Given the description of an element on the screen output the (x, y) to click on. 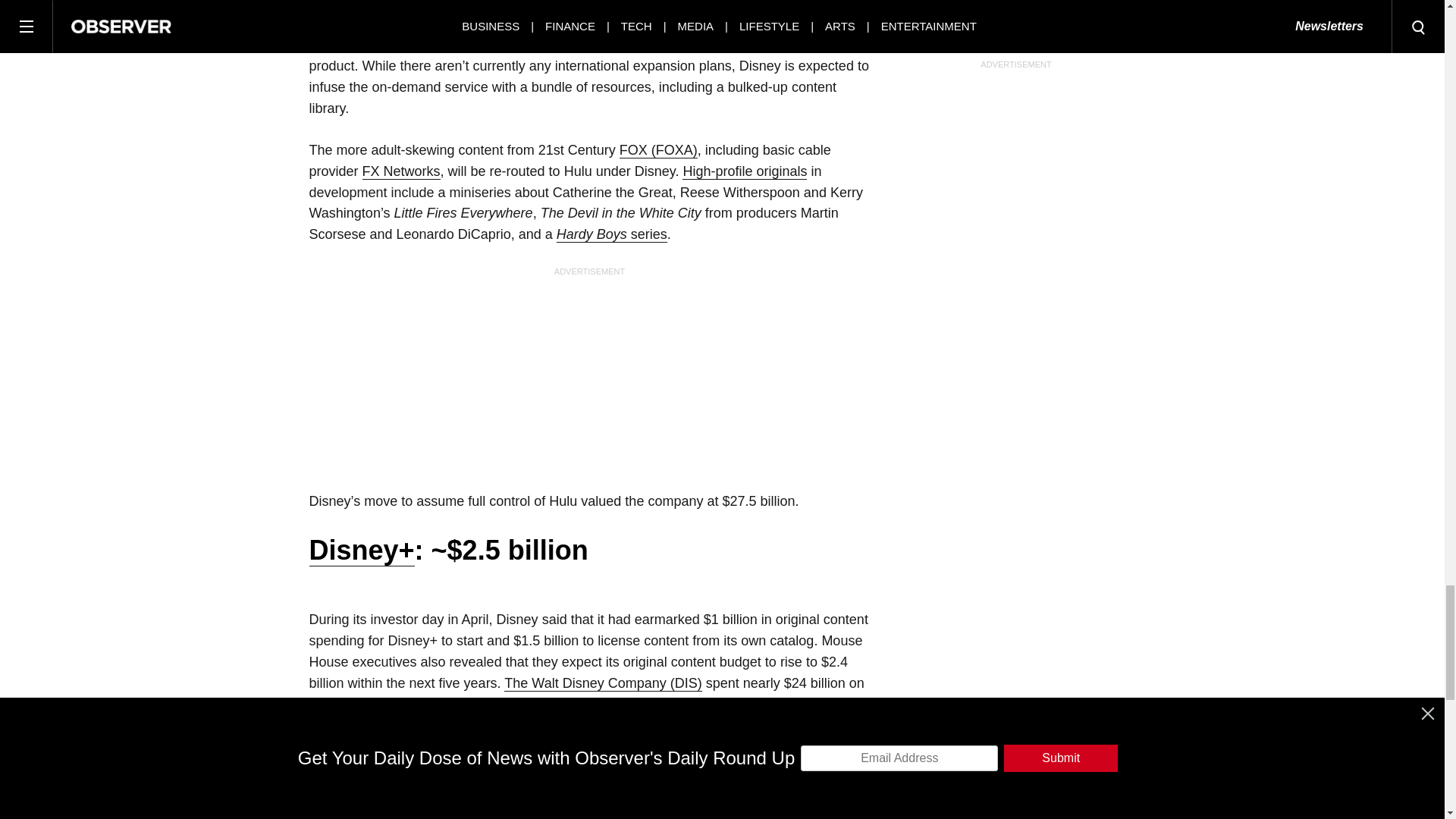
The Walt Disney Company (602, 683)
Hulu (322, 5)
FOX (658, 150)
